Given the description of an element on the screen output the (x, y) to click on. 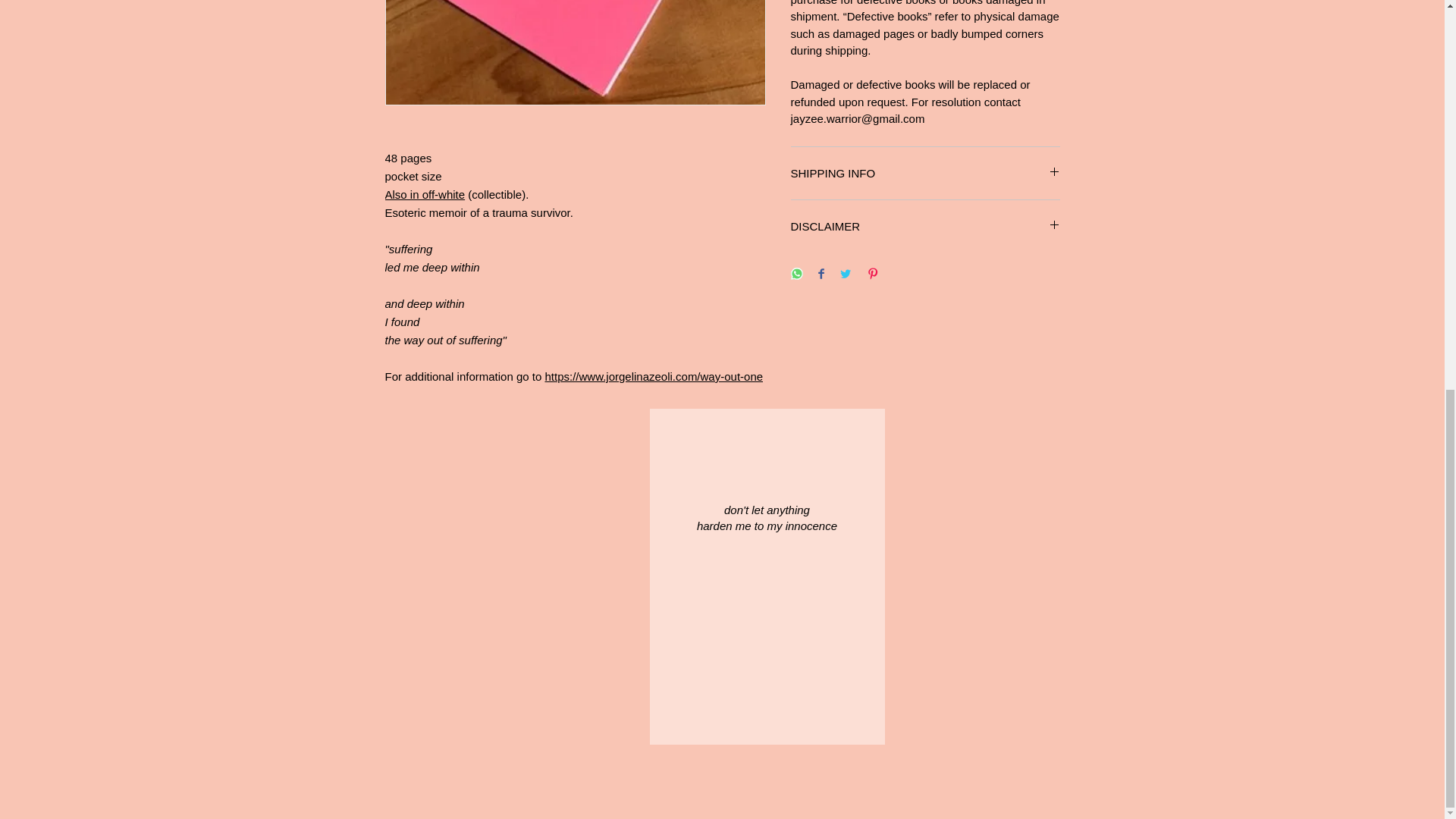
SHIPPING INFO (924, 172)
DISCLAIMER (924, 226)
Also in off-white (425, 194)
